Given the description of an element on the screen output the (x, y) to click on. 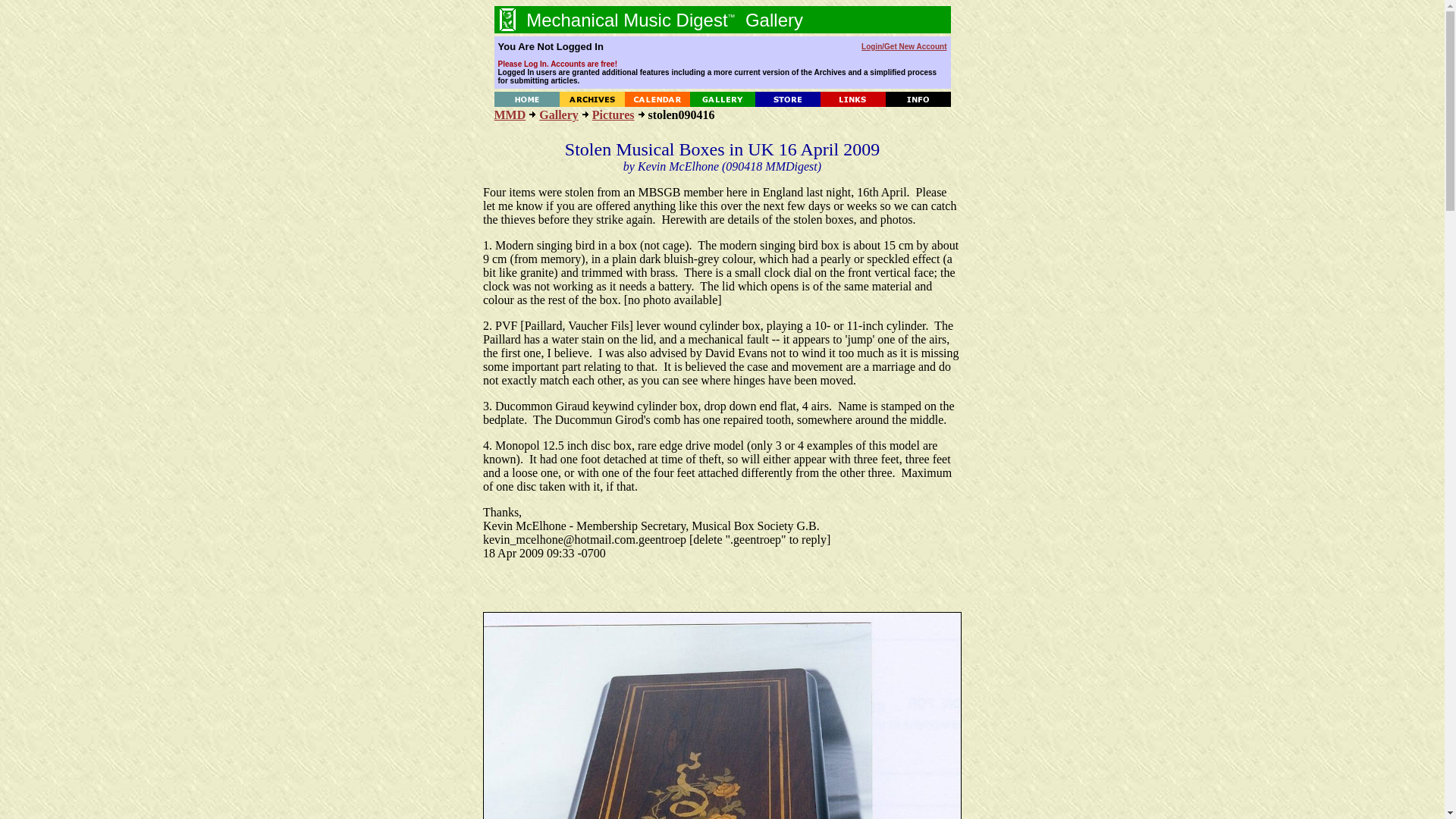
Gallery (558, 114)
MMD (510, 114)
Pictures (613, 114)
